Given the description of an element on the screen output the (x, y) to click on. 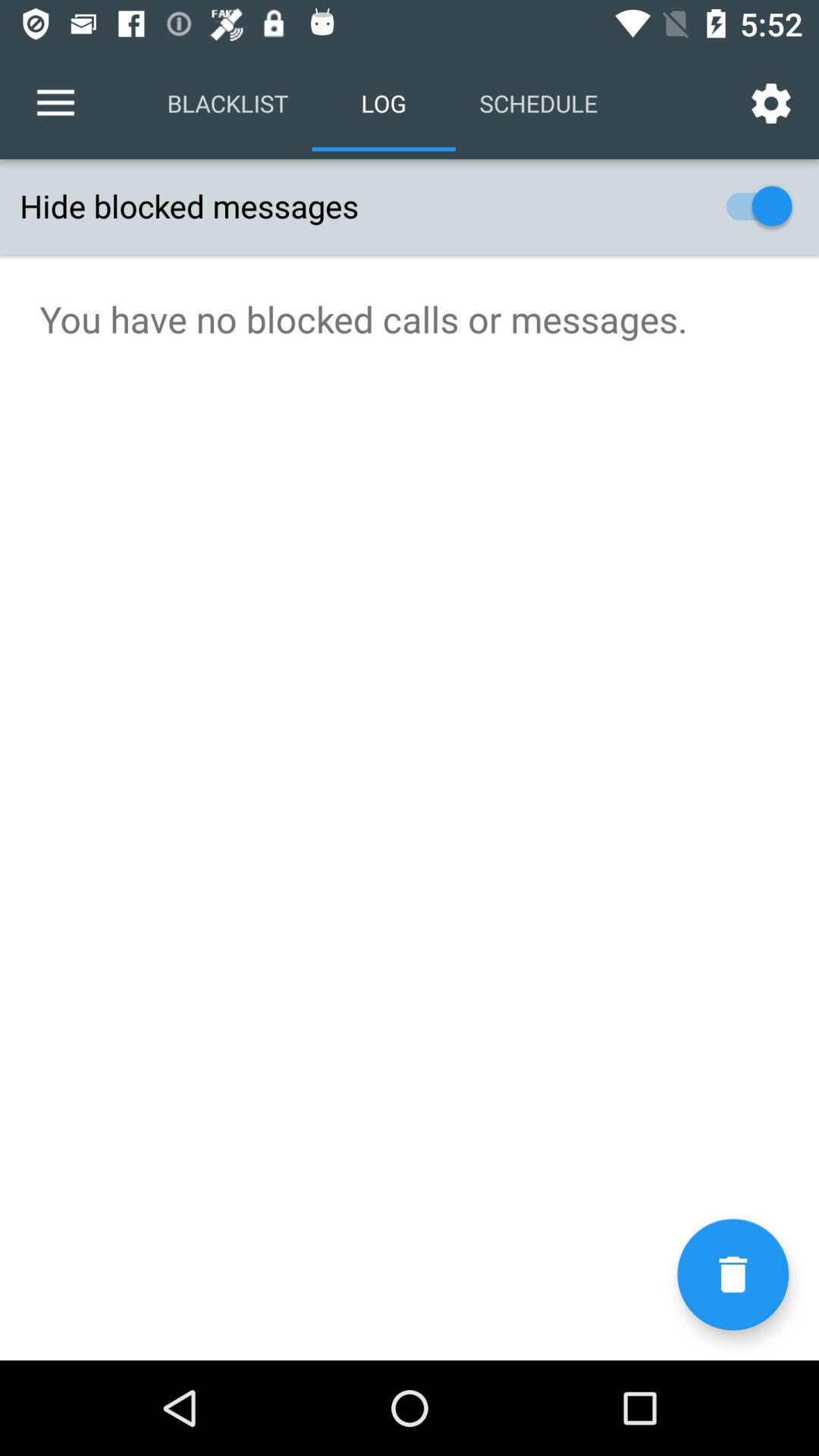
press the icon above hide blocked messages item (771, 103)
